Given the description of an element on the screen output the (x, y) to click on. 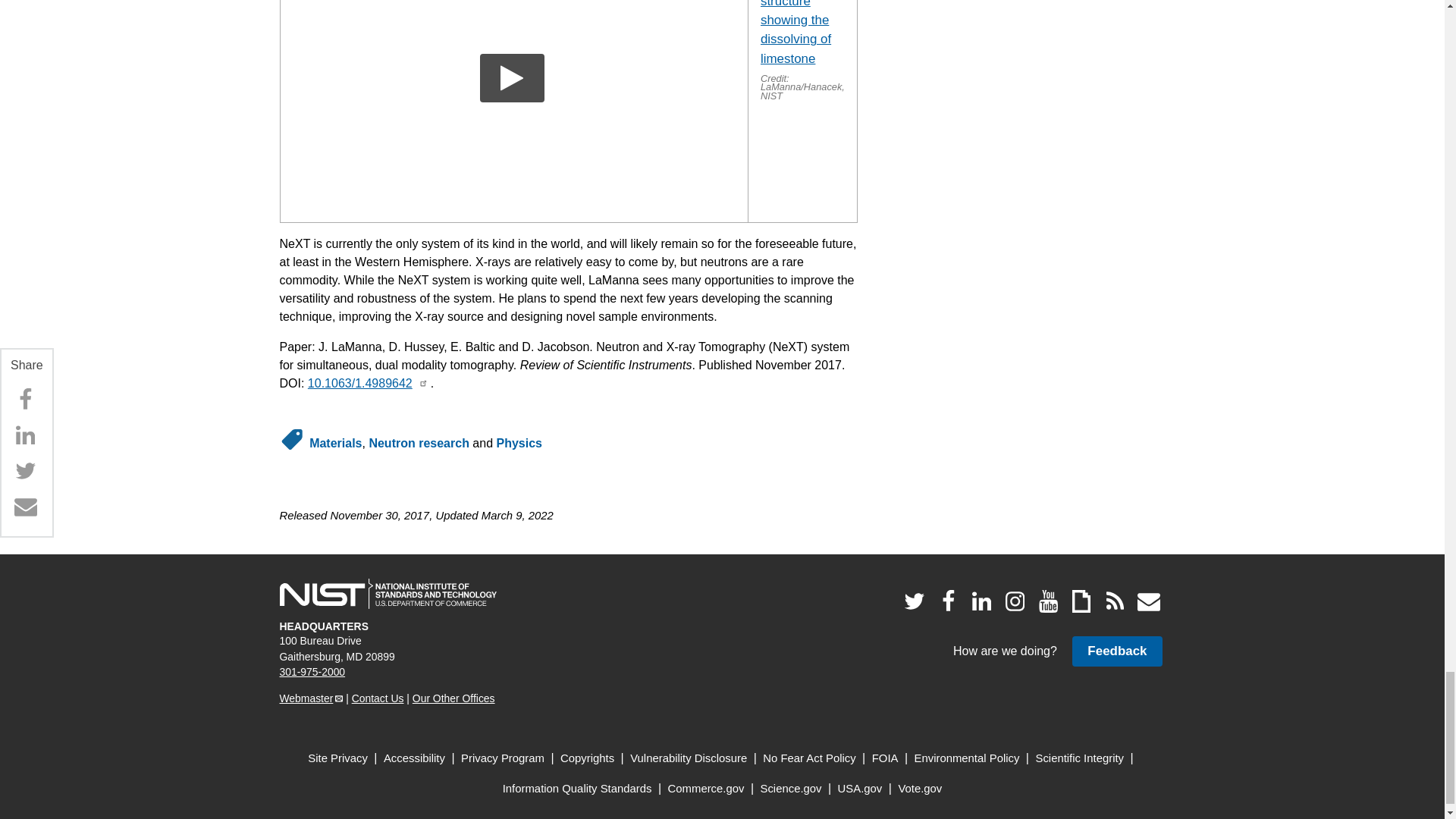
Materials (334, 442)
National Institute of Standards and Technology (387, 593)
Provide feedback (1116, 650)
